Given the description of an element on the screen output the (x, y) to click on. 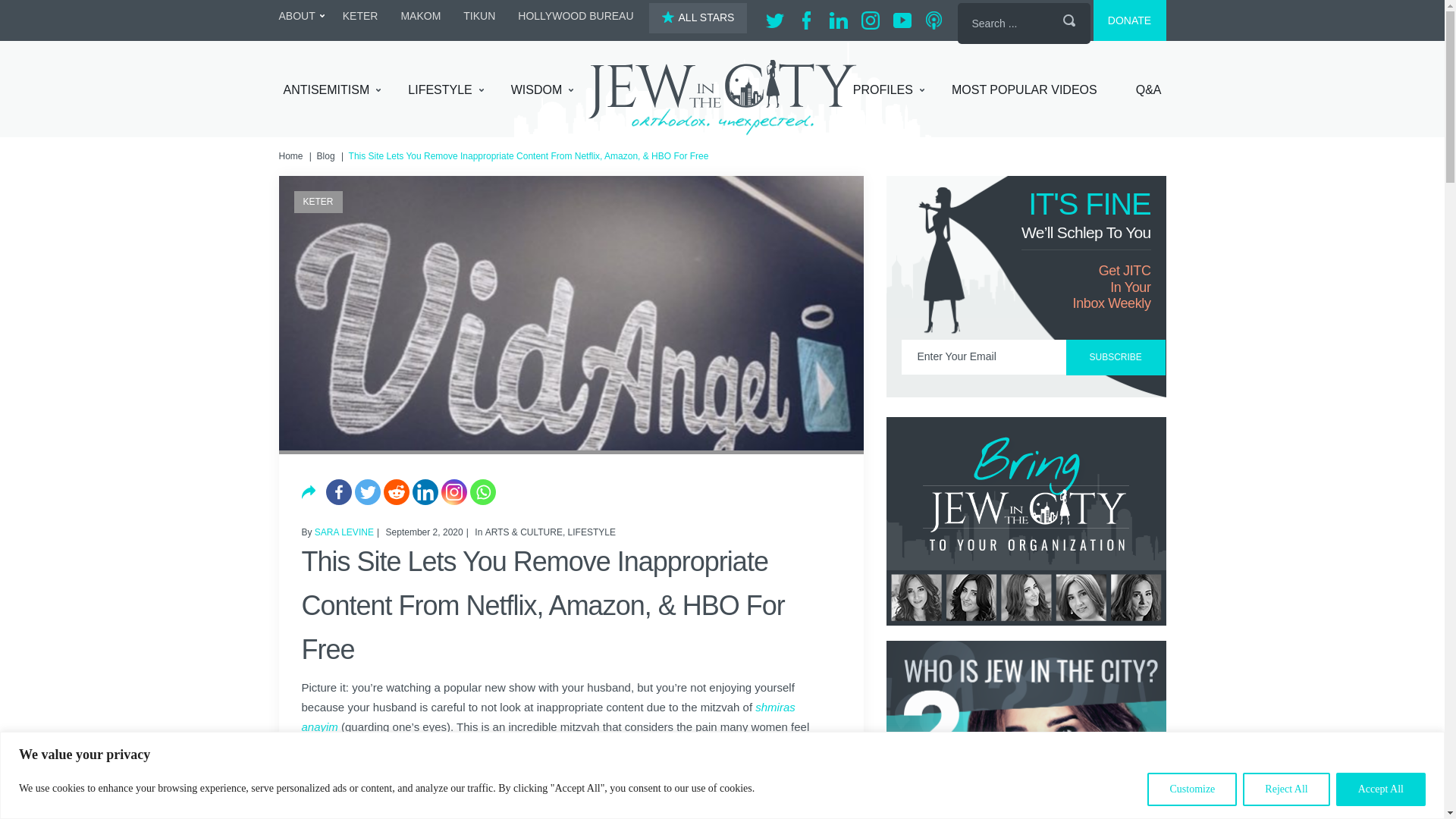
Instagram (454, 492)
Reject All (1286, 788)
LIFESTYLE (445, 90)
Facebook (339, 492)
Twitter (367, 492)
Whatsapp (483, 492)
ANTISEMITISM (332, 90)
Accept All (1380, 788)
WISDOM (542, 90)
Linkedin (425, 492)
Customize (1191, 788)
Reddit (396, 492)
